Given the description of an element on the screen output the (x, y) to click on. 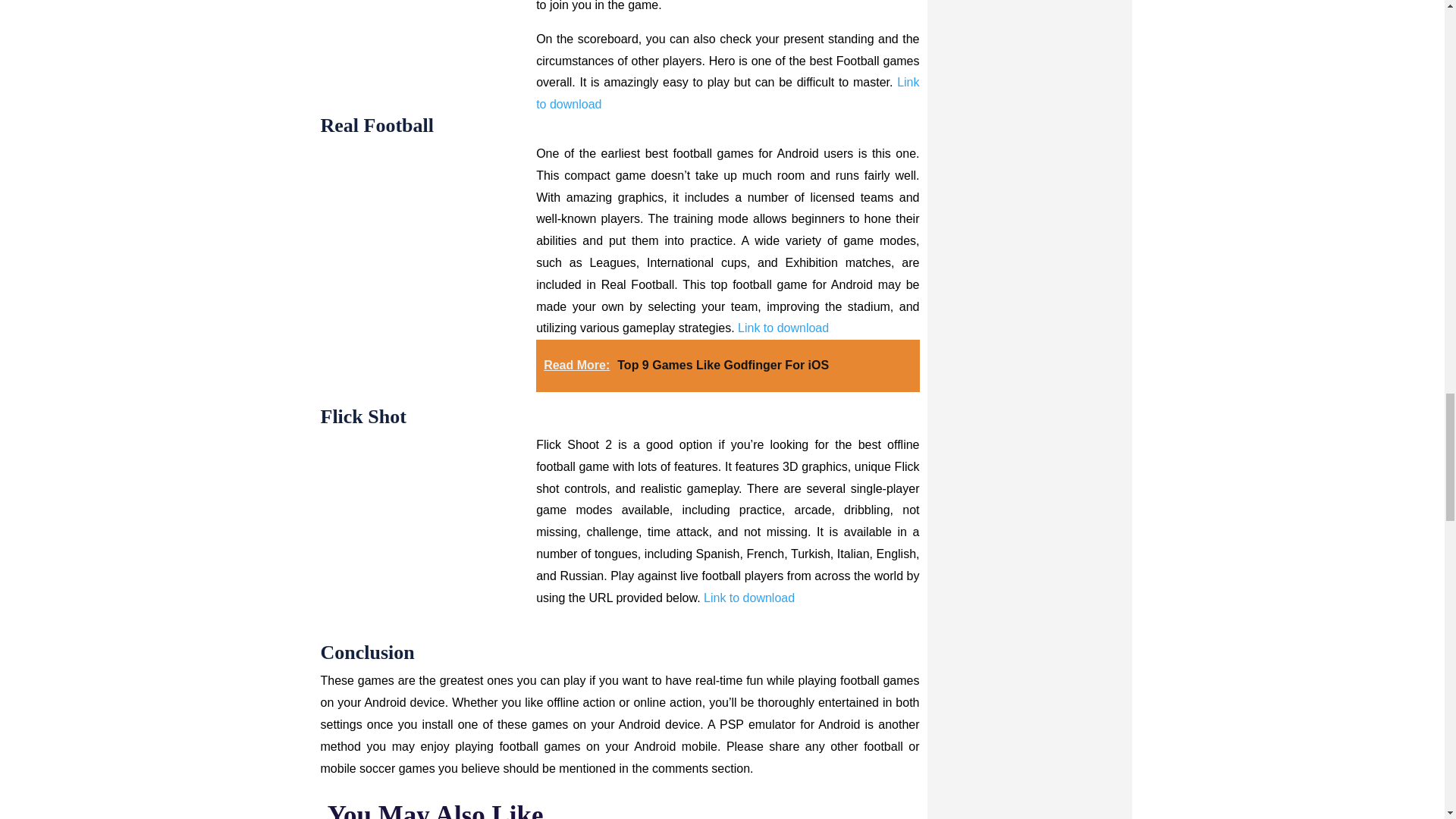
Link to download (726, 93)
Top 9 Games Like Godfinger For iOS (722, 364)
Link to download (748, 597)
Link to download (783, 327)
